Given the description of an element on the screen output the (x, y) to click on. 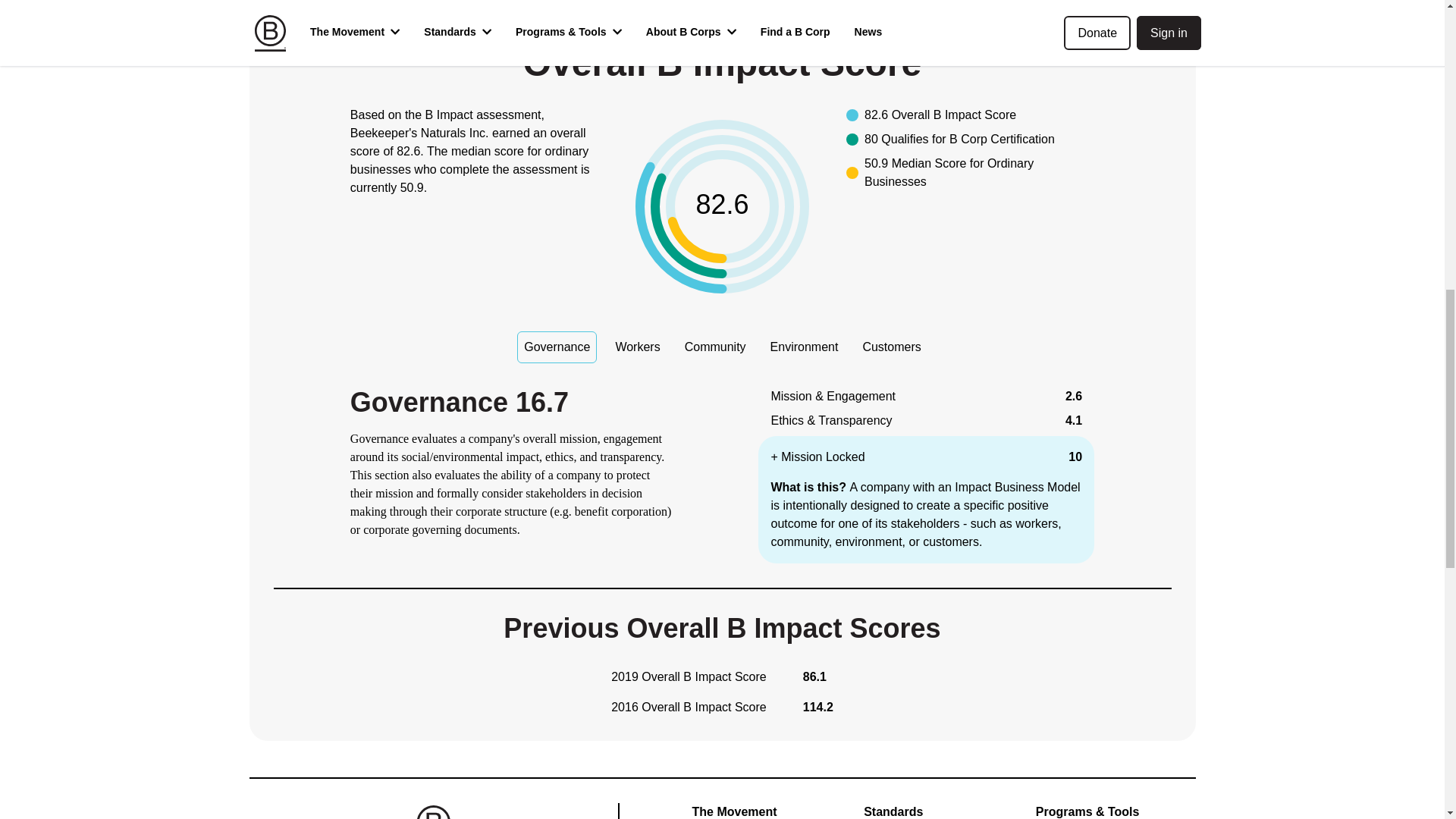
82.6 (721, 206)
